Given the description of an element on the screen output the (x, y) to click on. 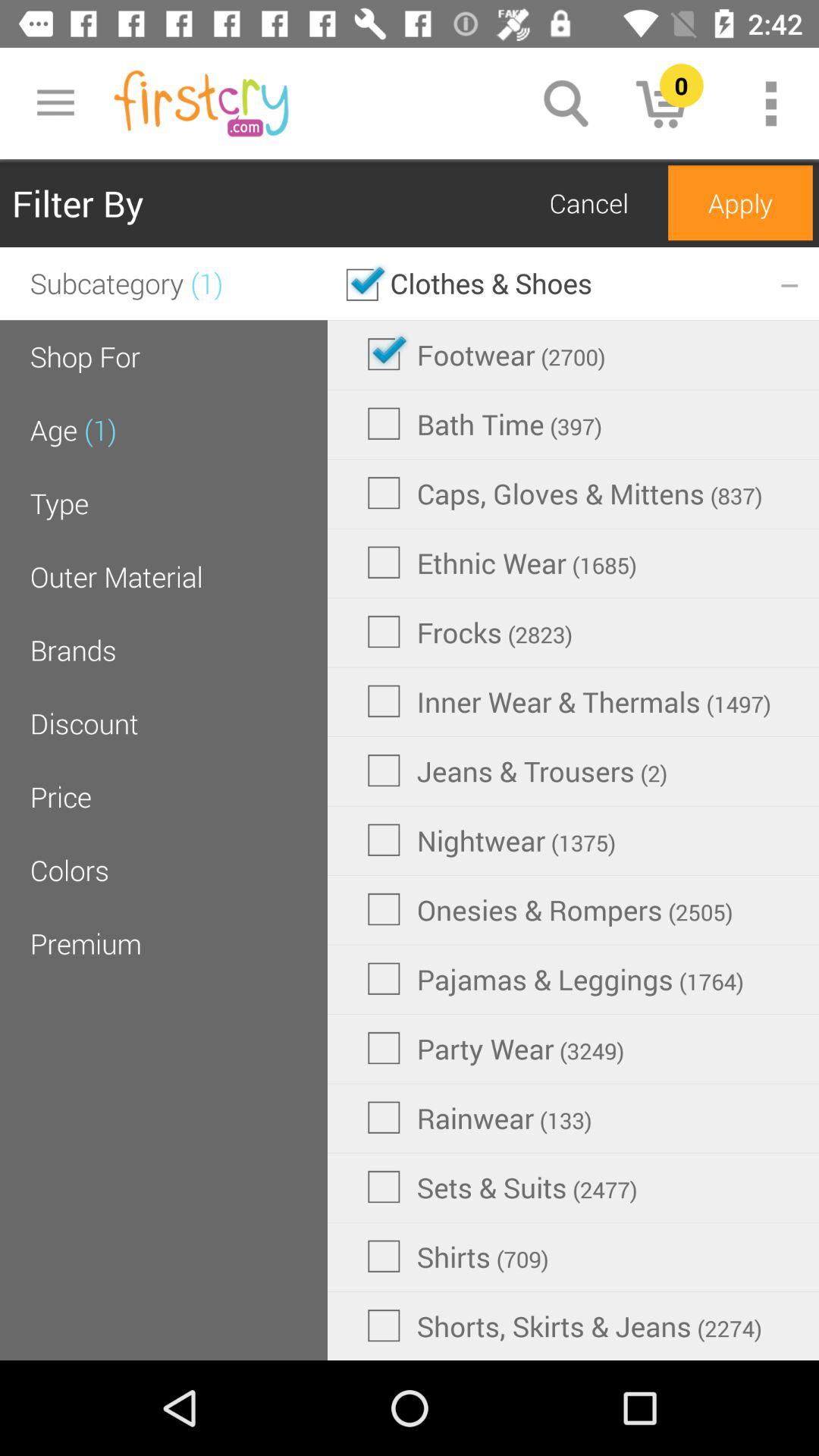
press icon above the frocks (2823) icon (502, 562)
